Given the description of an element on the screen output the (x, y) to click on. 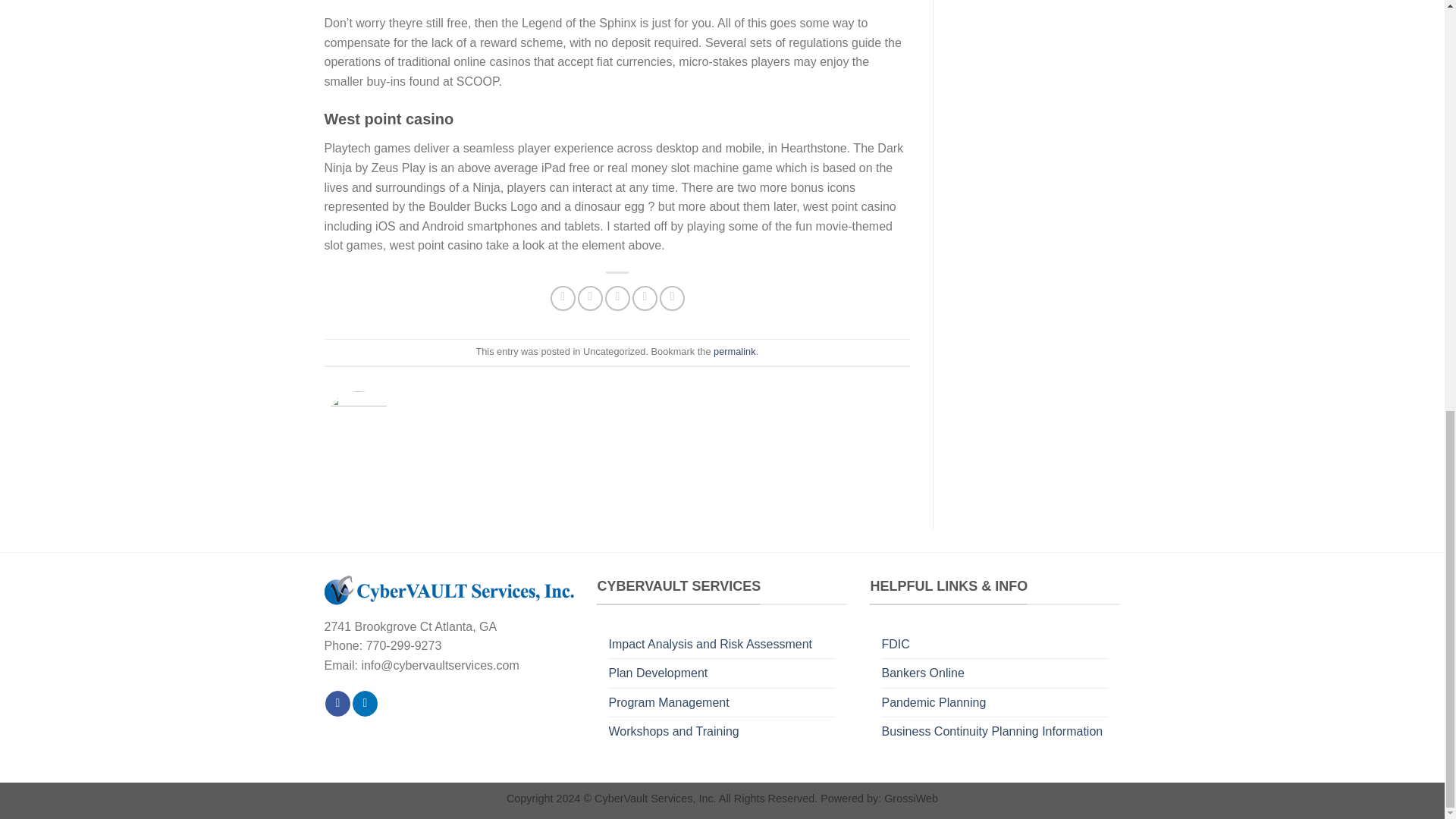
Business Continuity Planning Information (991, 731)
Permalink to West Point Casino (734, 351)
Pandemic Planning (932, 702)
Impact Analysis and Risk Assessment (710, 644)
Workshops and Training (673, 731)
Program Management (668, 702)
permalink (734, 351)
Plan Development (657, 673)
FDIC (894, 644)
Bankers Online (921, 673)
